Given the description of an element on the screen output the (x, y) to click on. 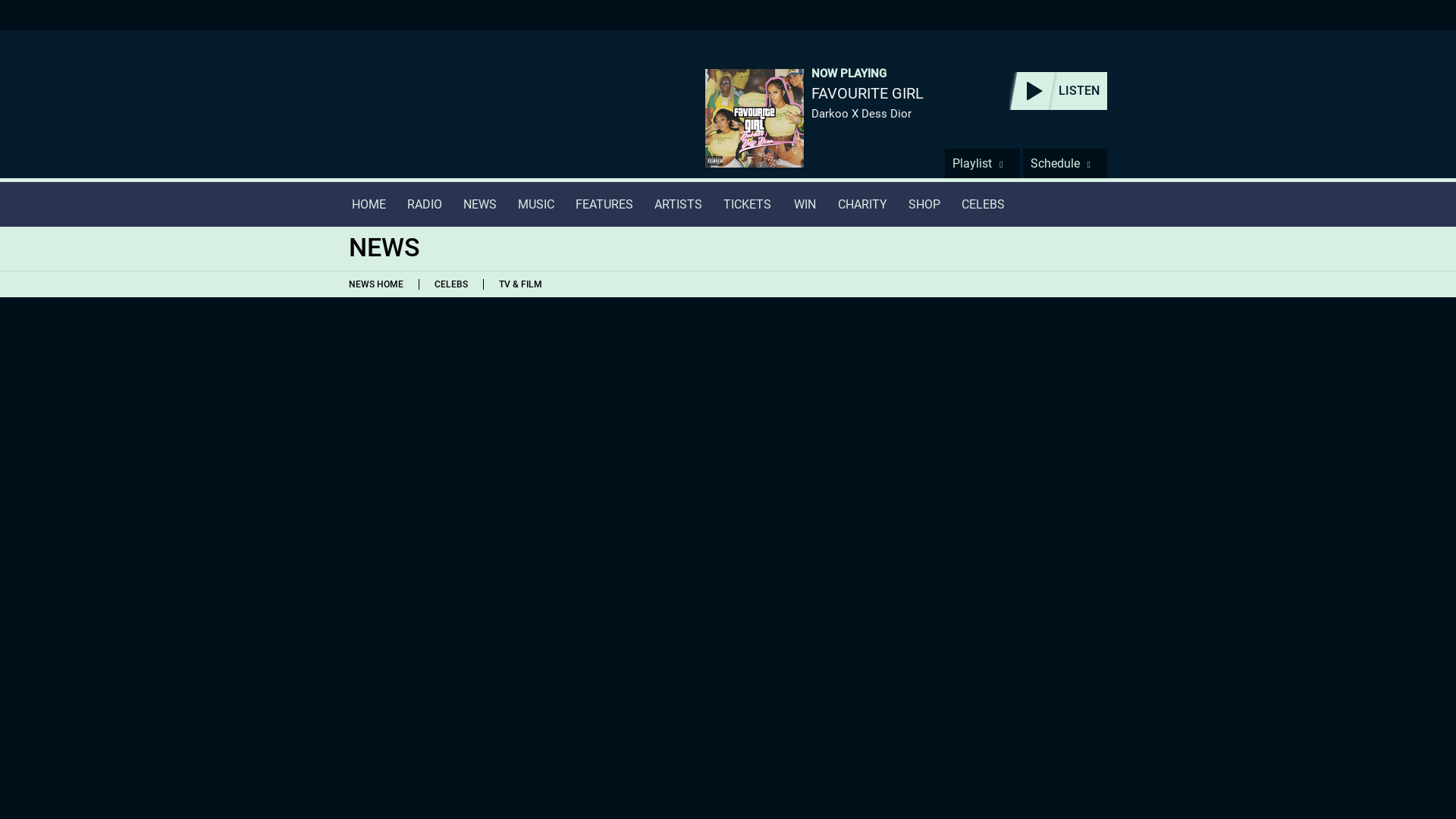
HOME (368, 203)
LISTEN (1057, 90)
Capital XTRA (443, 113)
Schedule (1064, 163)
SHOP (924, 203)
RADIO (424, 203)
FEATURES (603, 203)
ARTISTS (678, 203)
WIN (804, 203)
CELEBS (982, 203)
